Given the description of an element on the screen output the (x, y) to click on. 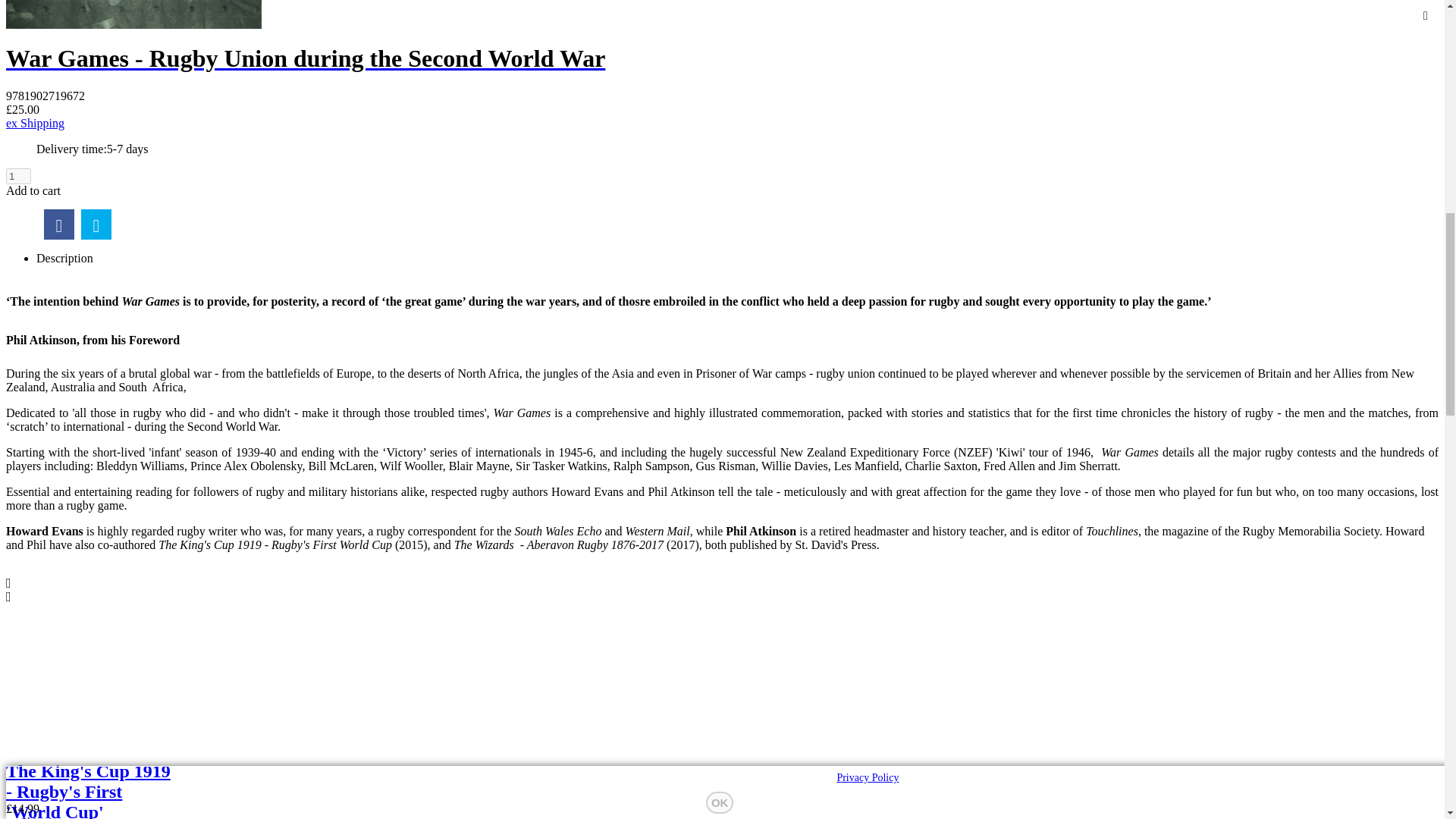
The King's Cup 1919 - Rugby's First 'World Cup' (89, 790)
Facebook (58, 224)
Add to cart (33, 190)
ex Shipping (34, 123)
1 (17, 176)
ex Shipping (34, 817)
